Given the description of an element on the screen output the (x, y) to click on. 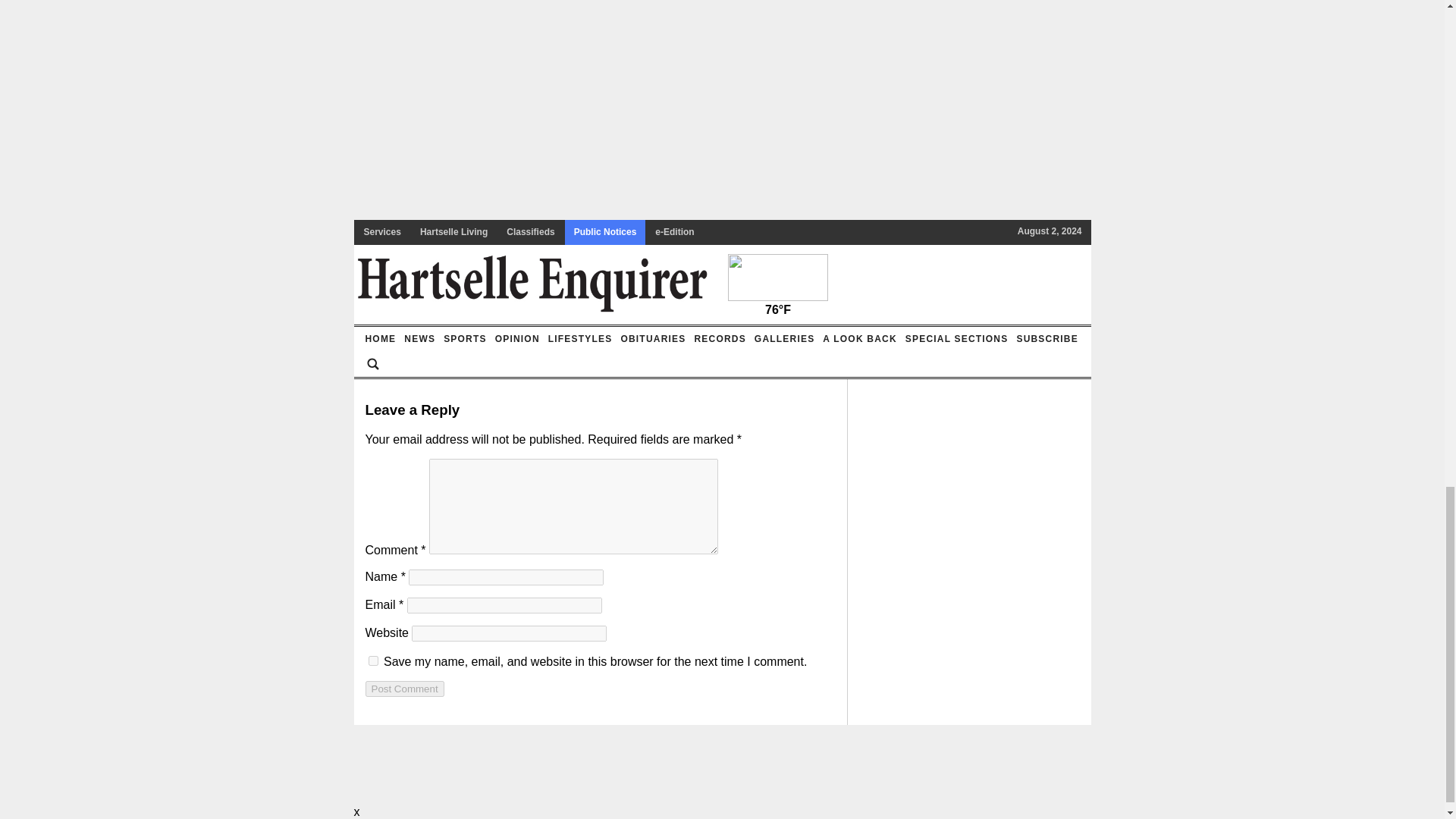
Post Comment (404, 688)
yes (373, 660)
